Given the description of an element on the screen output the (x, y) to click on. 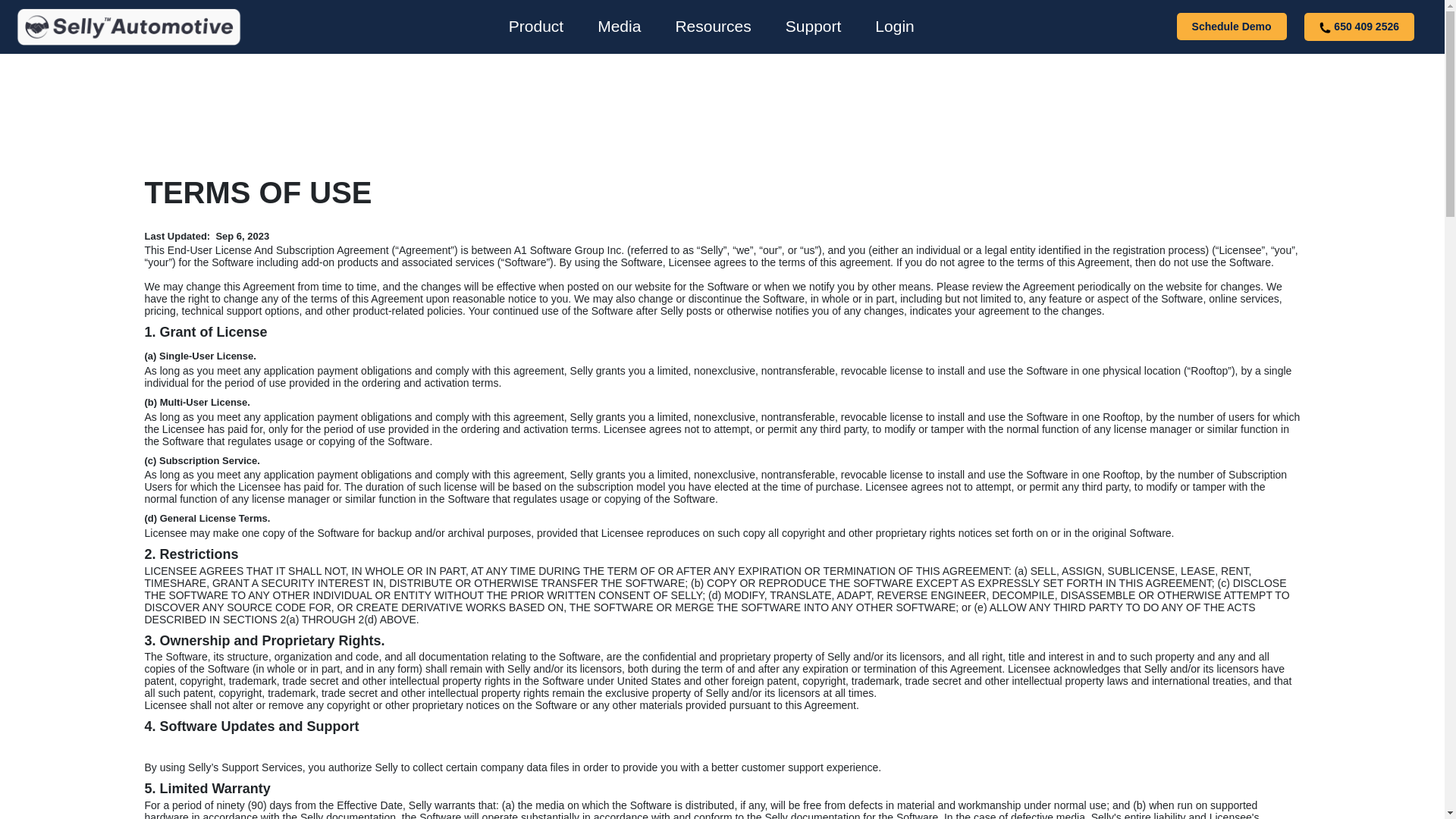
Login (894, 26)
Product (535, 26)
Resources (713, 26)
Support (813, 26)
Media (618, 26)
Schedule Demo (1231, 26)
650 409 2526 (1358, 26)
